Given the description of an element on the screen output the (x, y) to click on. 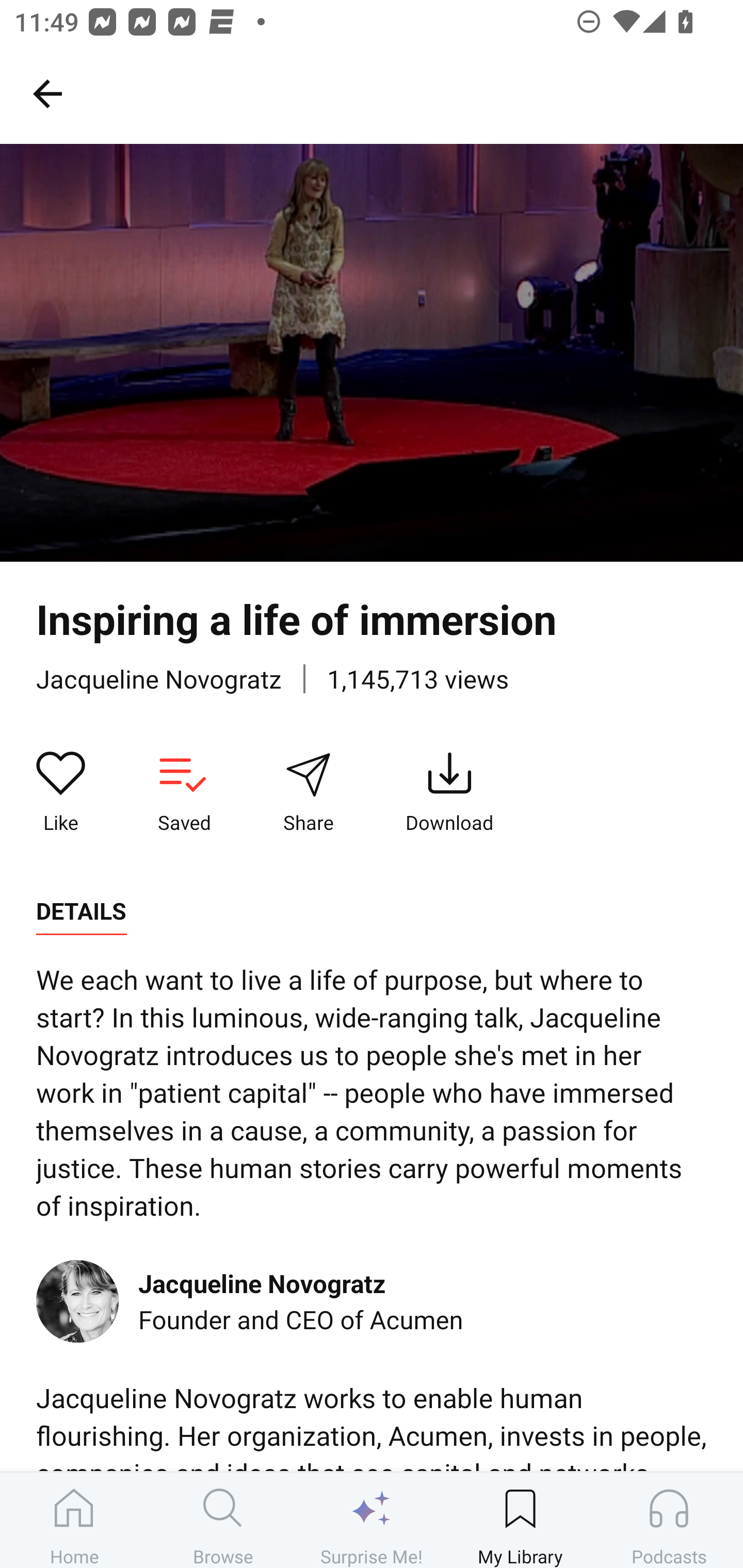
My Library, back (47, 92)
Like (60, 793)
Saved (183, 793)
Share (308, 793)
Download (449, 793)
DETAILS (80, 911)
Home (74, 1520)
Browse (222, 1520)
Surprise Me! (371, 1520)
My Library (519, 1520)
Podcasts (668, 1520)
